Given the description of an element on the screen output the (x, y) to click on. 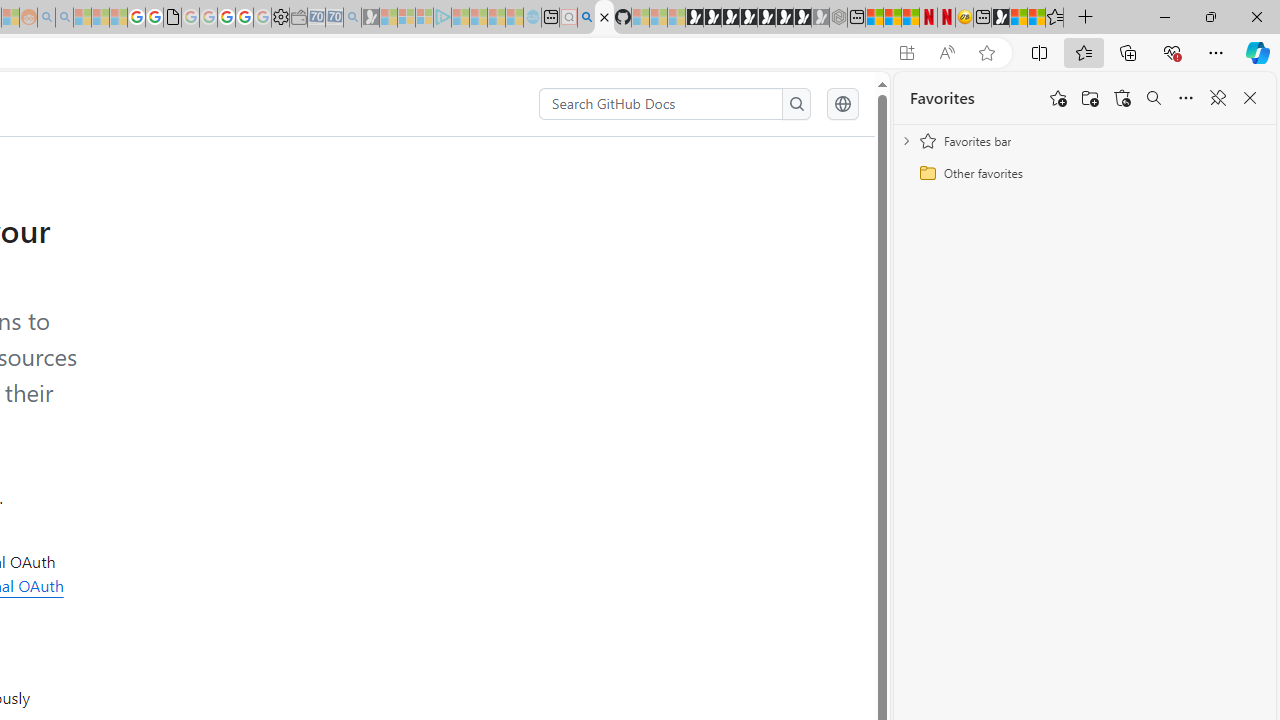
Unpin favorites (1217, 98)
